Given the description of an element on the screen output the (x, y) to click on. 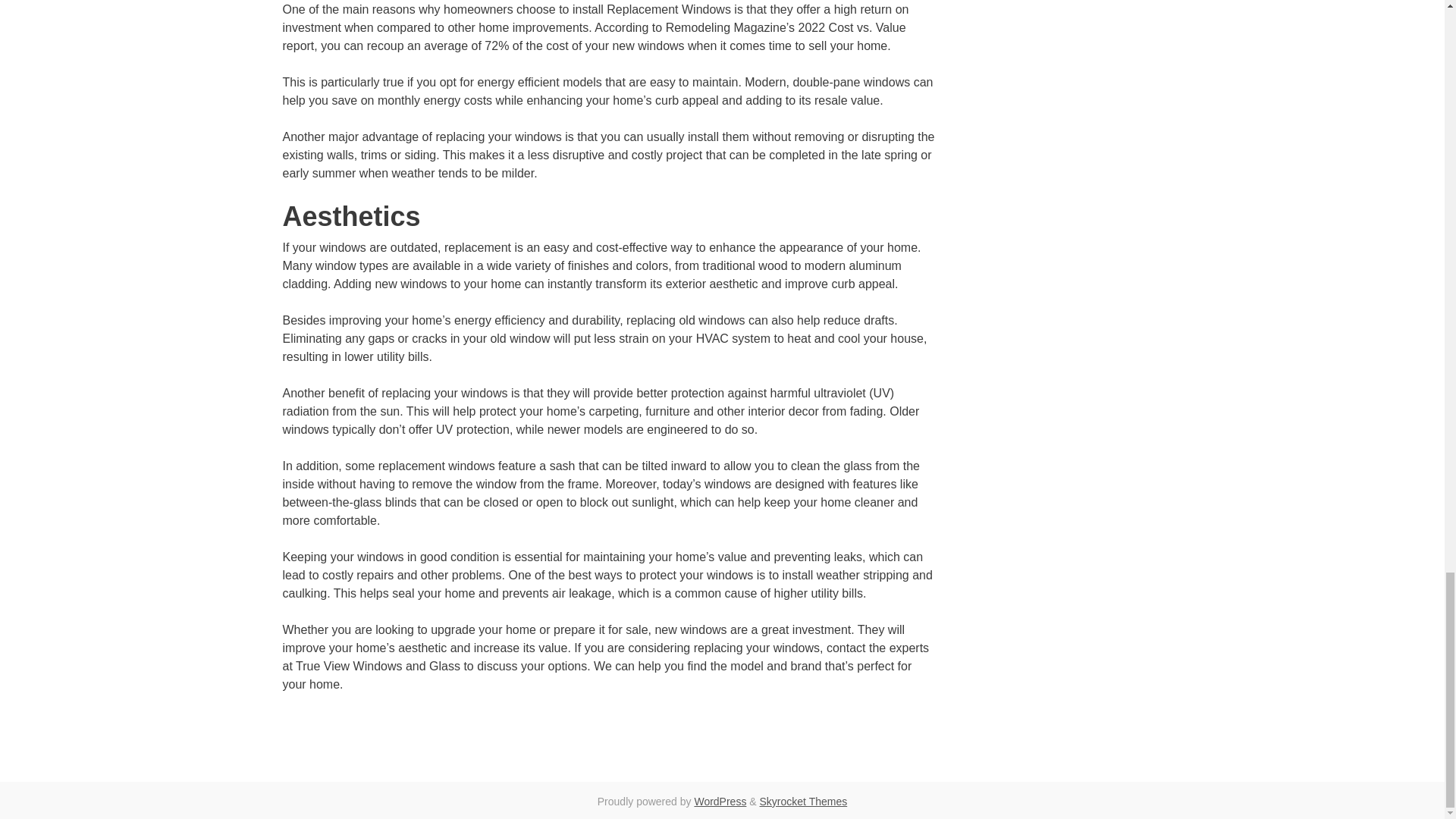
WordPress (719, 801)
Skyrocket Themes (803, 801)
Semantic Personal Publishing Platform (719, 801)
Skyrocket Themes (803, 801)
